Given the description of an element on the screen output the (x, y) to click on. 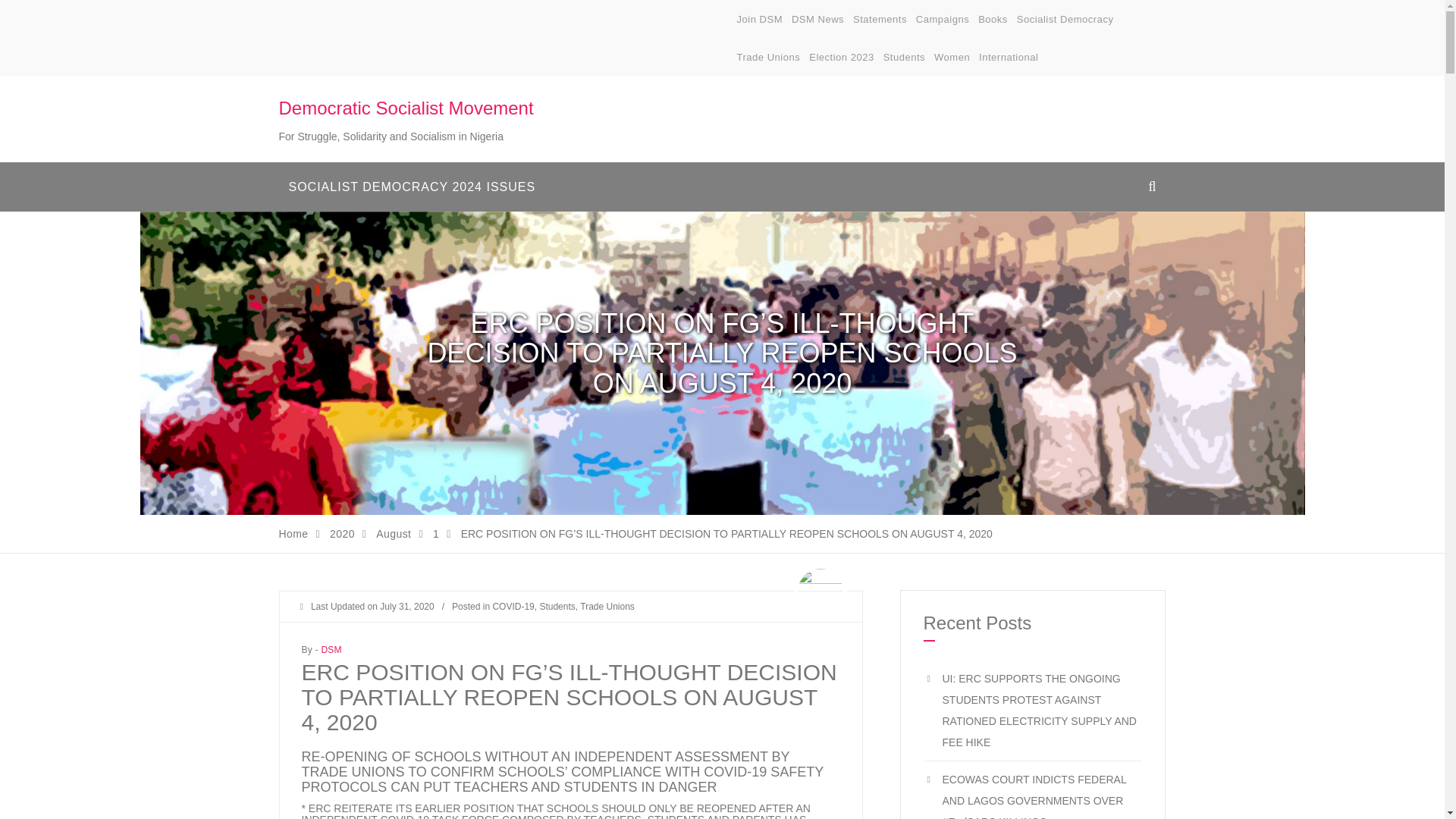
International (1008, 57)
Home (293, 533)
Campaigns (942, 19)
Election 2023 (842, 57)
August (392, 533)
Books (992, 19)
Students (556, 606)
Women (951, 57)
2020 (342, 533)
Statements (880, 19)
Trade Unions (768, 57)
Socialist Democracy 2024 issues (412, 186)
Democratic Socialist Movement (406, 107)
COVID-19 (513, 606)
